Given the description of an element on the screen output the (x, y) to click on. 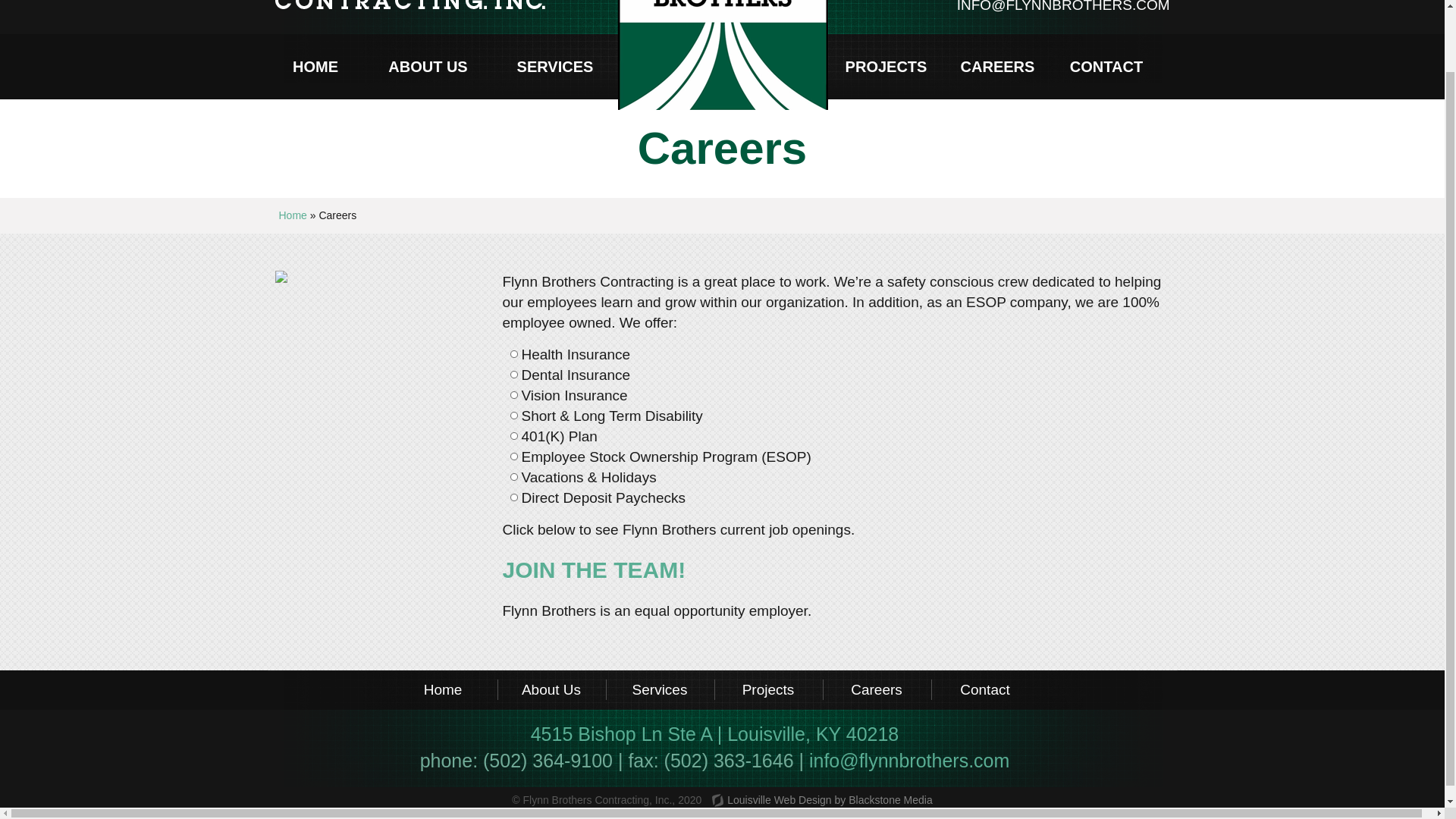
CONTACT (1106, 66)
HOME (314, 66)
SERVICES (555, 66)
CAREERS (997, 66)
Flynn Brothers Contracting, Inc. (494, 4)
PROJECTS (886, 66)
ABOUT US (428, 66)
